Given the description of an element on the screen output the (x, y) to click on. 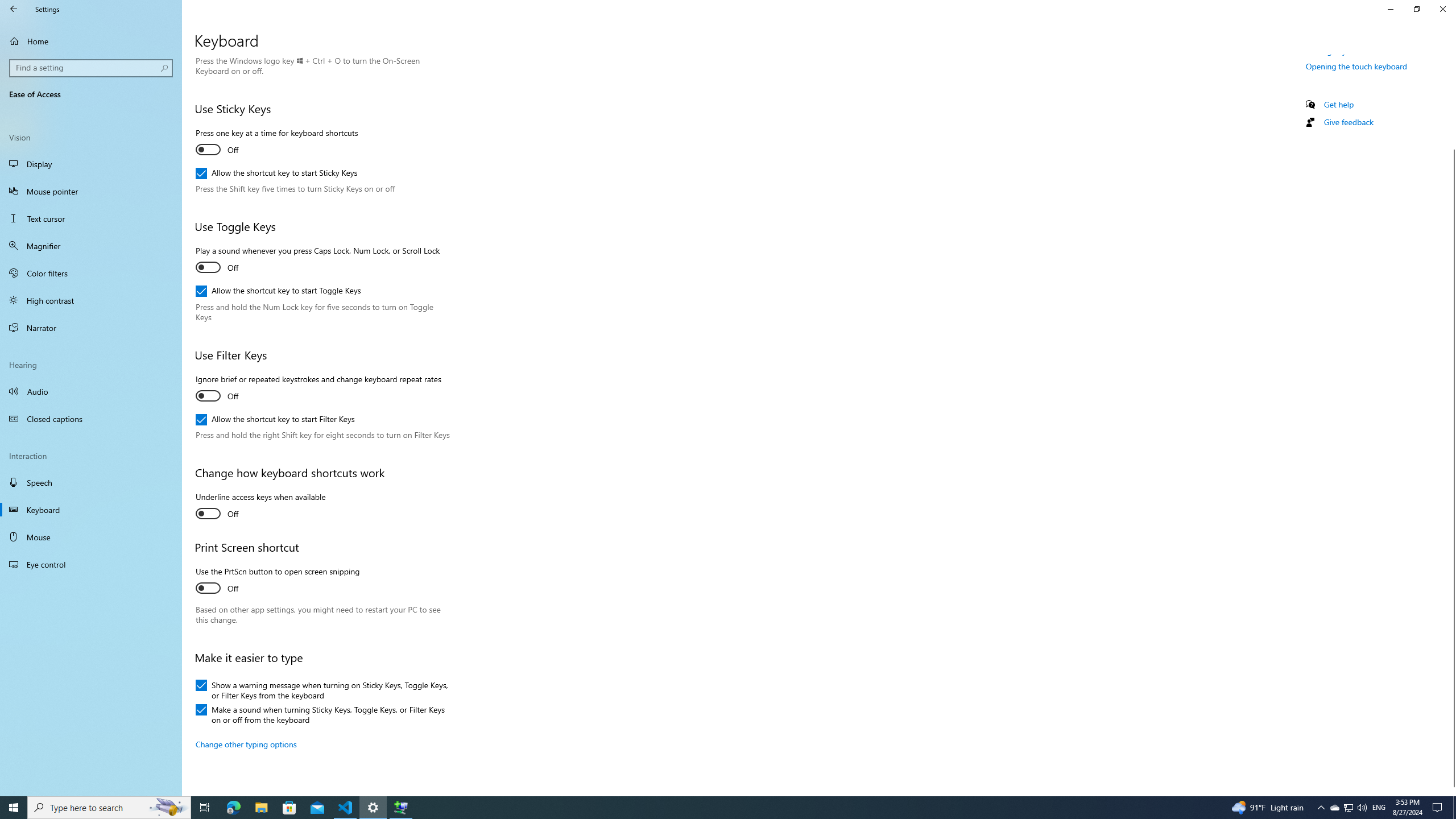
Speech (91, 482)
Mouse pointer (91, 190)
Magnifier (91, 245)
Vertical Small Increase (1451, 791)
User Promoted Notification Area (1347, 807)
Q2790: 100% (1361, 807)
Allow the shortcut key to start Toggle Keys (278, 290)
Back (13, 9)
Start (13, 807)
Give feedback (1348, 121)
Tray Input Indicator - English (United States) (1378, 807)
Show desktop (1454, 807)
Action Center, No new notifications (1439, 807)
